Given the description of an element on the screen output the (x, y) to click on. 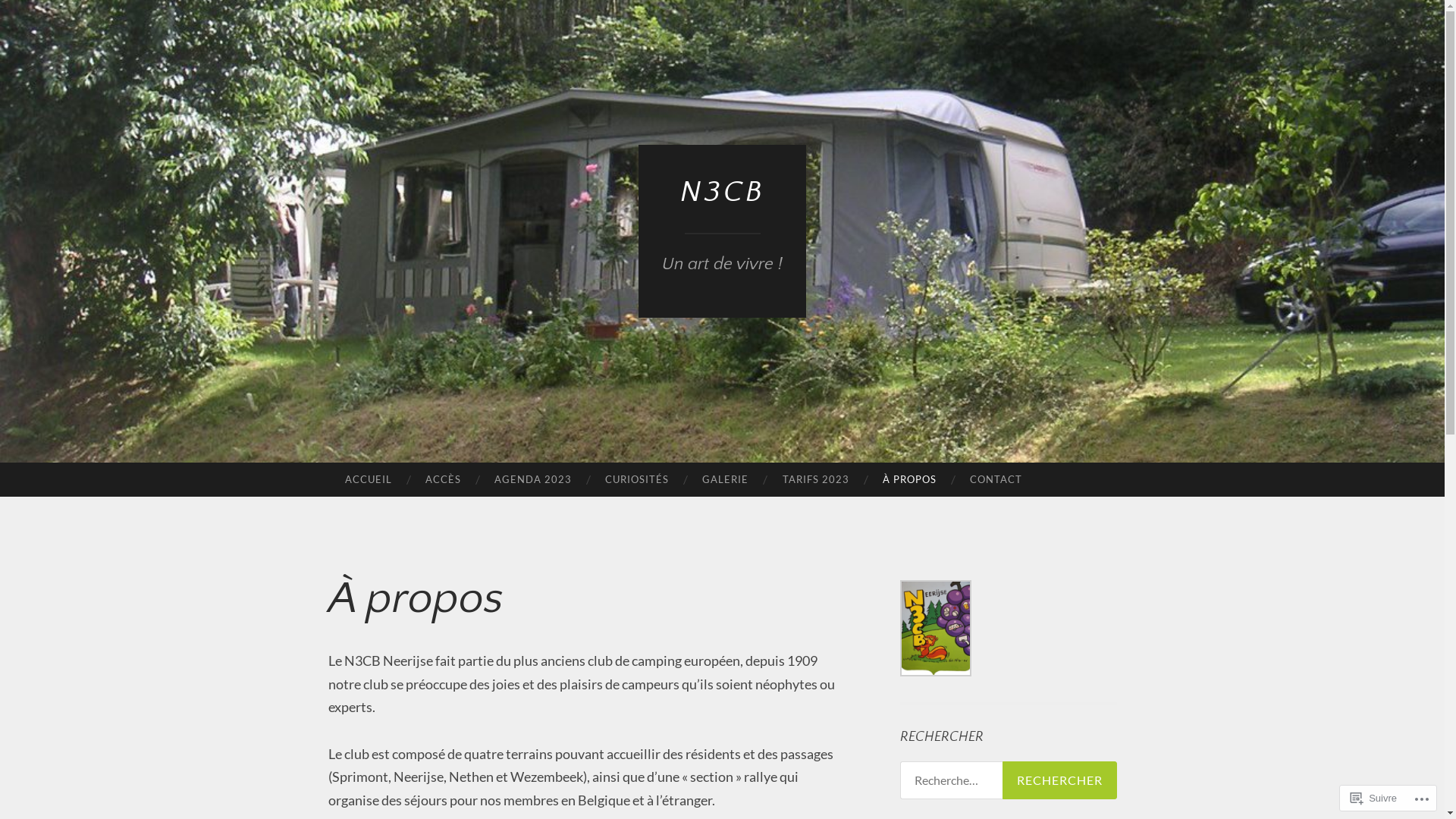
Suivre Element type: text (1373, 797)
TARIFS 2023 Element type: text (815, 479)
N3CB Element type: text (721, 191)
Rechercher Element type: text (1059, 780)
CONTACT Element type: text (995, 479)
ACCUEIL Element type: text (367, 479)
GALERIE Element type: text (725, 479)
AGENDA 2023 Element type: text (532, 479)
